Given the description of an element on the screen output the (x, y) to click on. 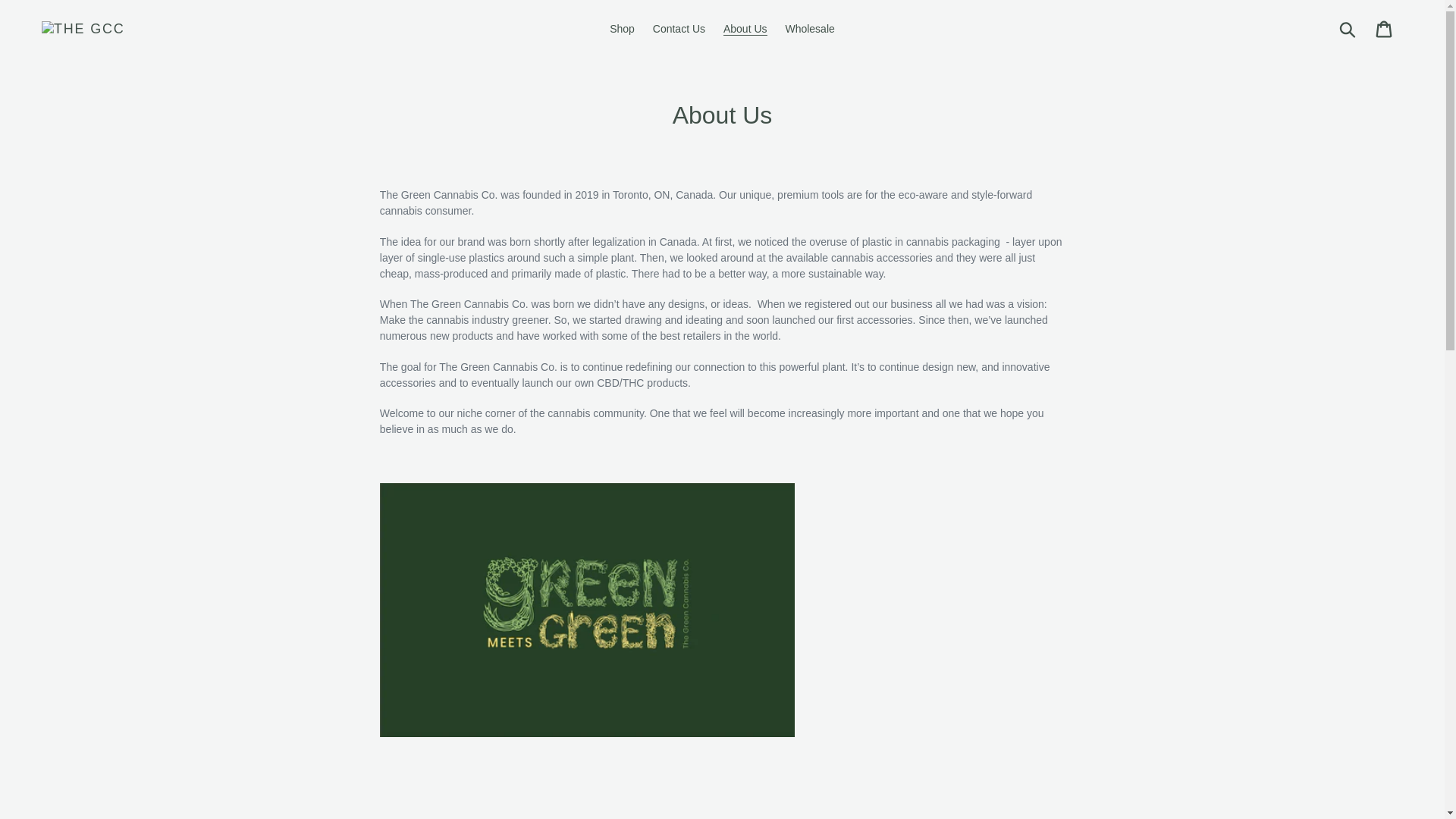
About Us (745, 28)
Shop (622, 28)
Contact Us (679, 28)
Submit (1348, 28)
Wholesale (809, 28)
Cart (1385, 29)
